Given the description of an element on the screen output the (x, y) to click on. 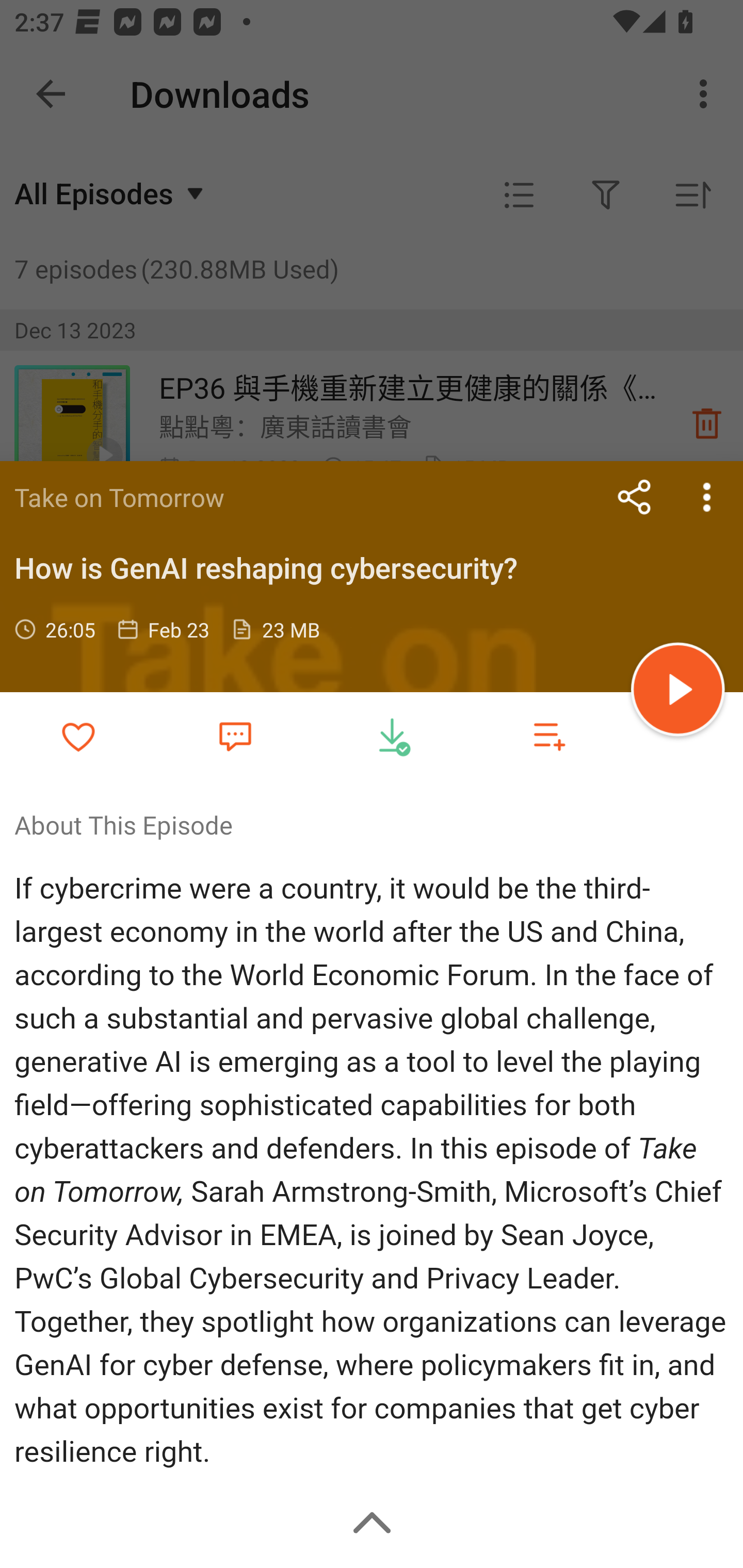
Share (634, 496)
more options (706, 496)
Play (677, 692)
Favorite (234, 735)
Add to Favorites (78, 735)
Downloaded (391, 735)
Add to playlist (548, 735)
